Given the description of an element on the screen output the (x, y) to click on. 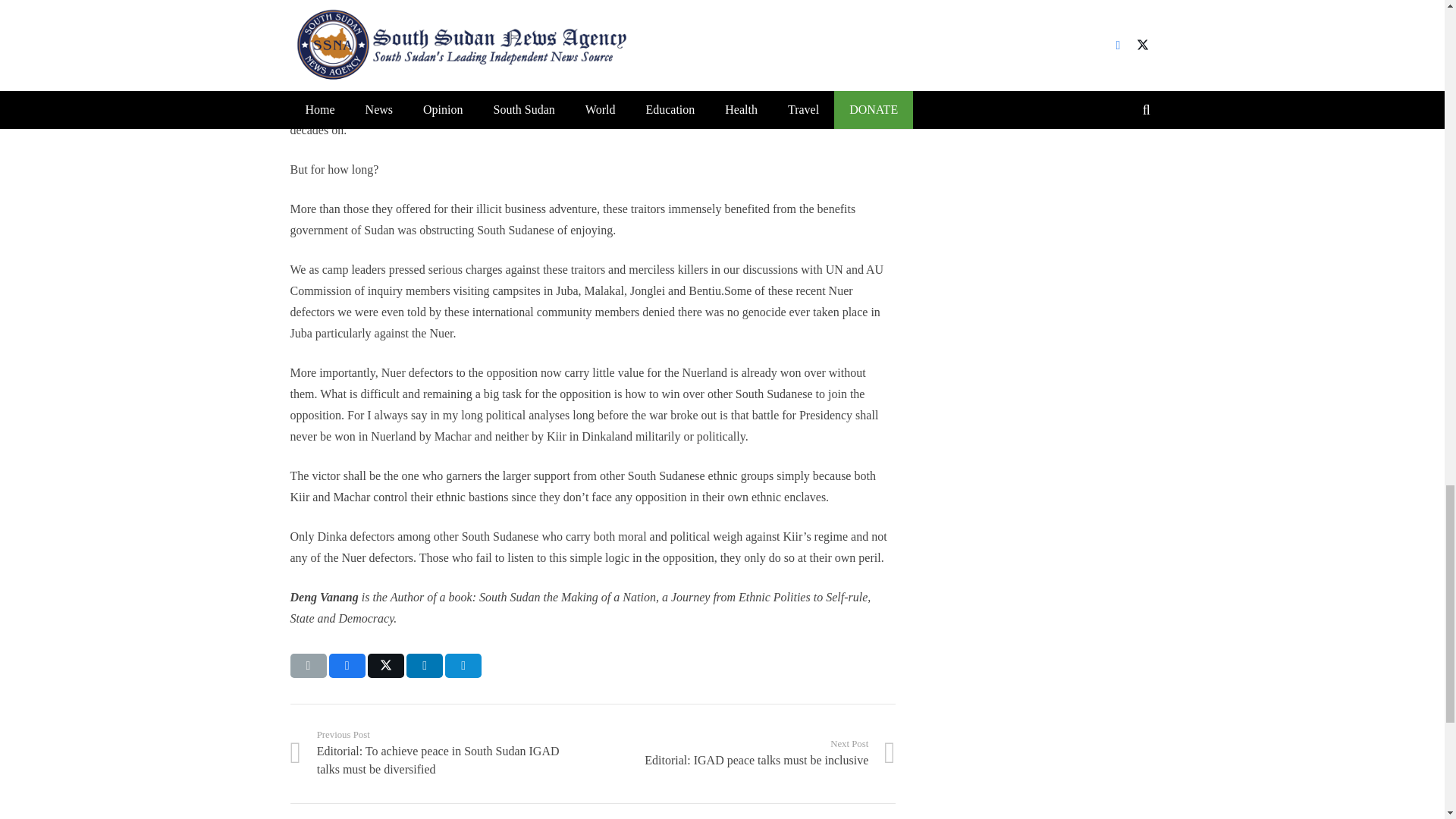
Tweet this (386, 665)
Share this (424, 665)
Share this (347, 665)
Share this (463, 665)
Editorial: IGAD peace talks must be inclusive (743, 753)
Email this (743, 753)
